Given the description of an element on the screen output the (x, y) to click on. 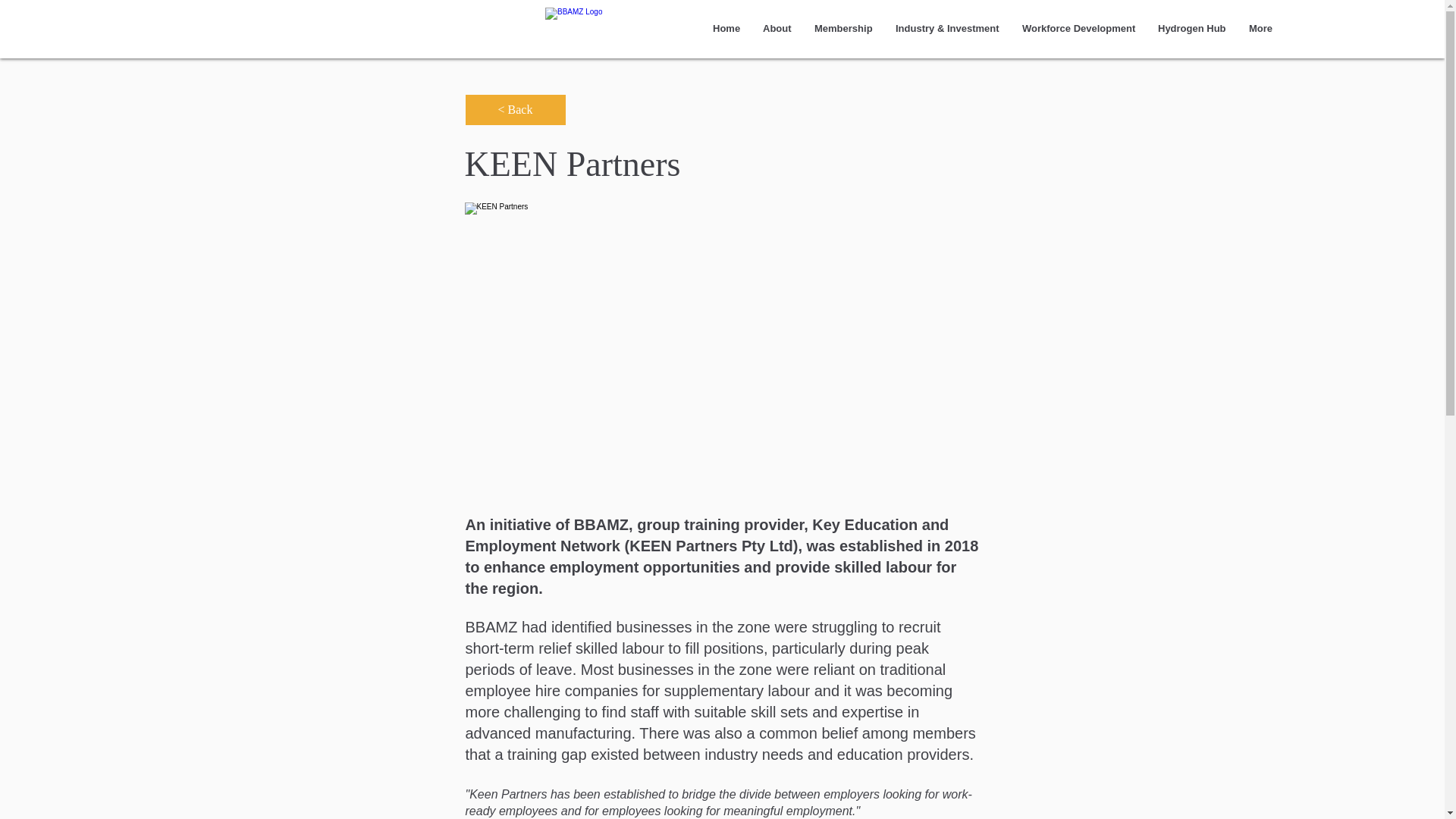
Home (726, 28)
Workforce Development (1078, 28)
Membership (843, 28)
Hydrogen Hub (1192, 28)
Key Education and Employment Network (707, 535)
About (777, 28)
